Given the description of an element on the screen output the (x, y) to click on. 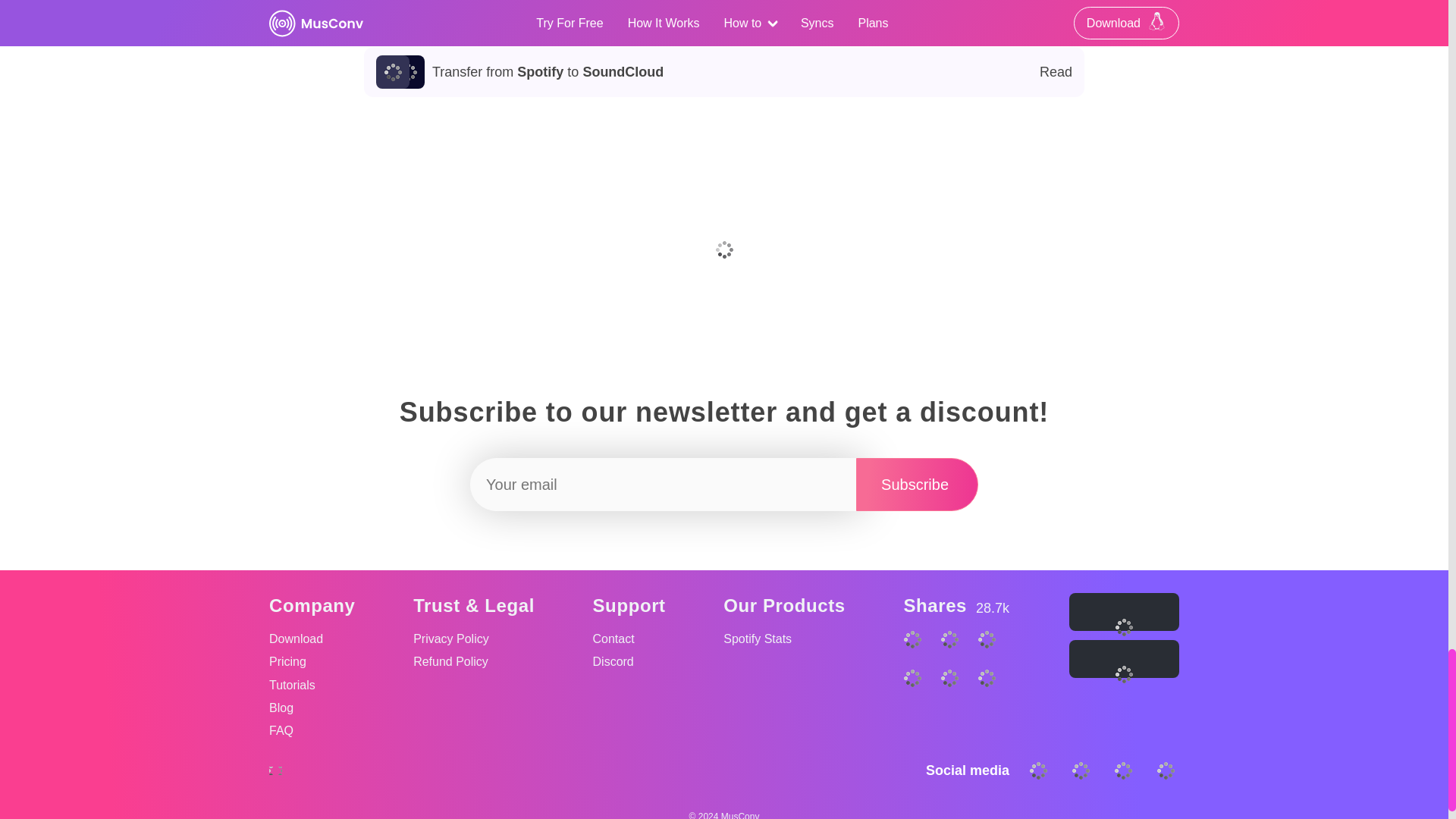
Subscribe (724, 71)
Share on Reddit (917, 484)
Share on Pinterest (957, 697)
Share on Facebook (919, 697)
Share on LinkedIn (957, 659)
Download (724, 21)
Subscribe (993, 697)
Share on Twitter (312, 638)
